Given the description of an element on the screen output the (x, y) to click on. 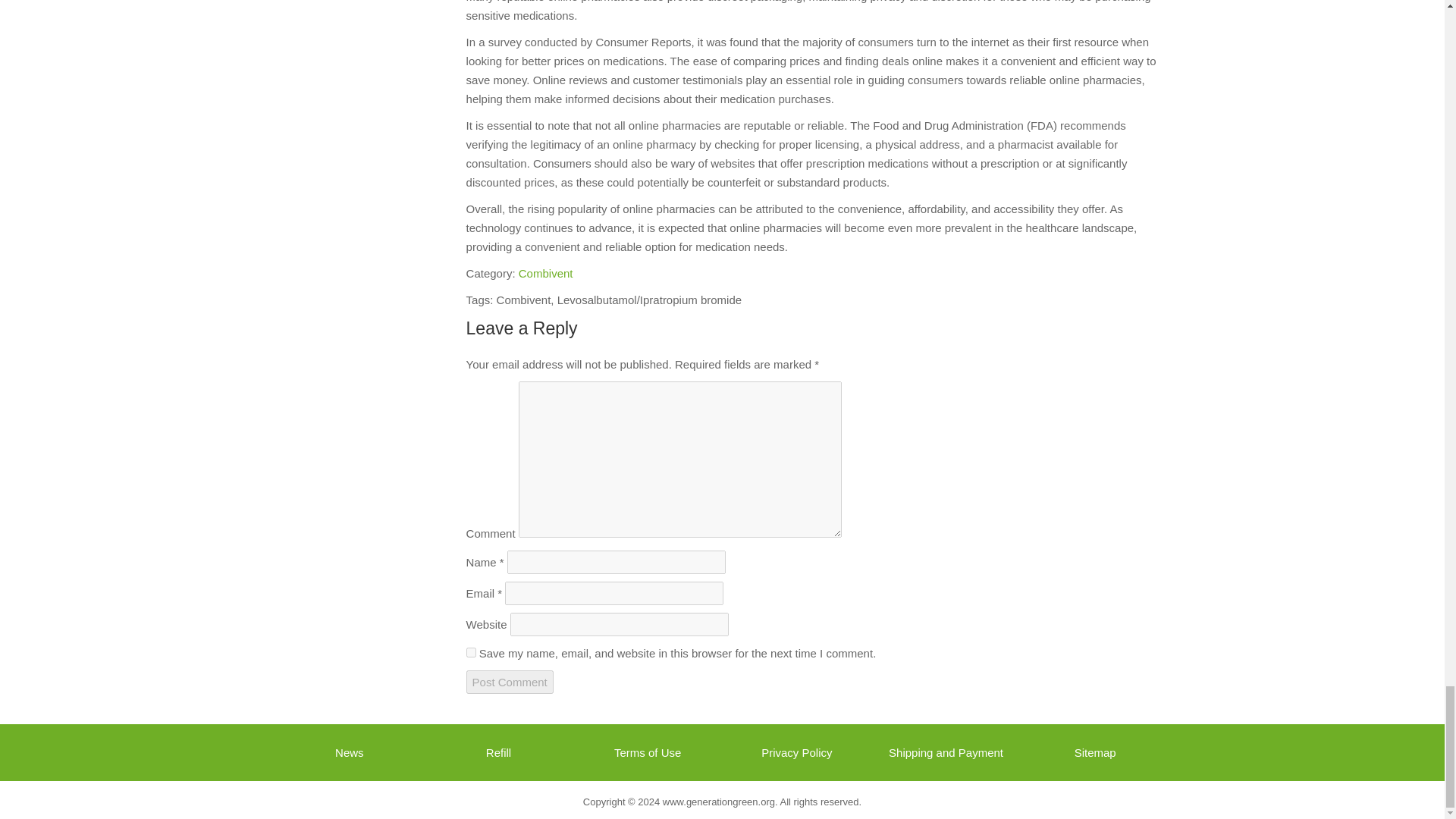
Post Comment (509, 681)
Post Comment (509, 681)
yes (470, 652)
Combivent (545, 273)
